Given the description of an element on the screen output the (x, y) to click on. 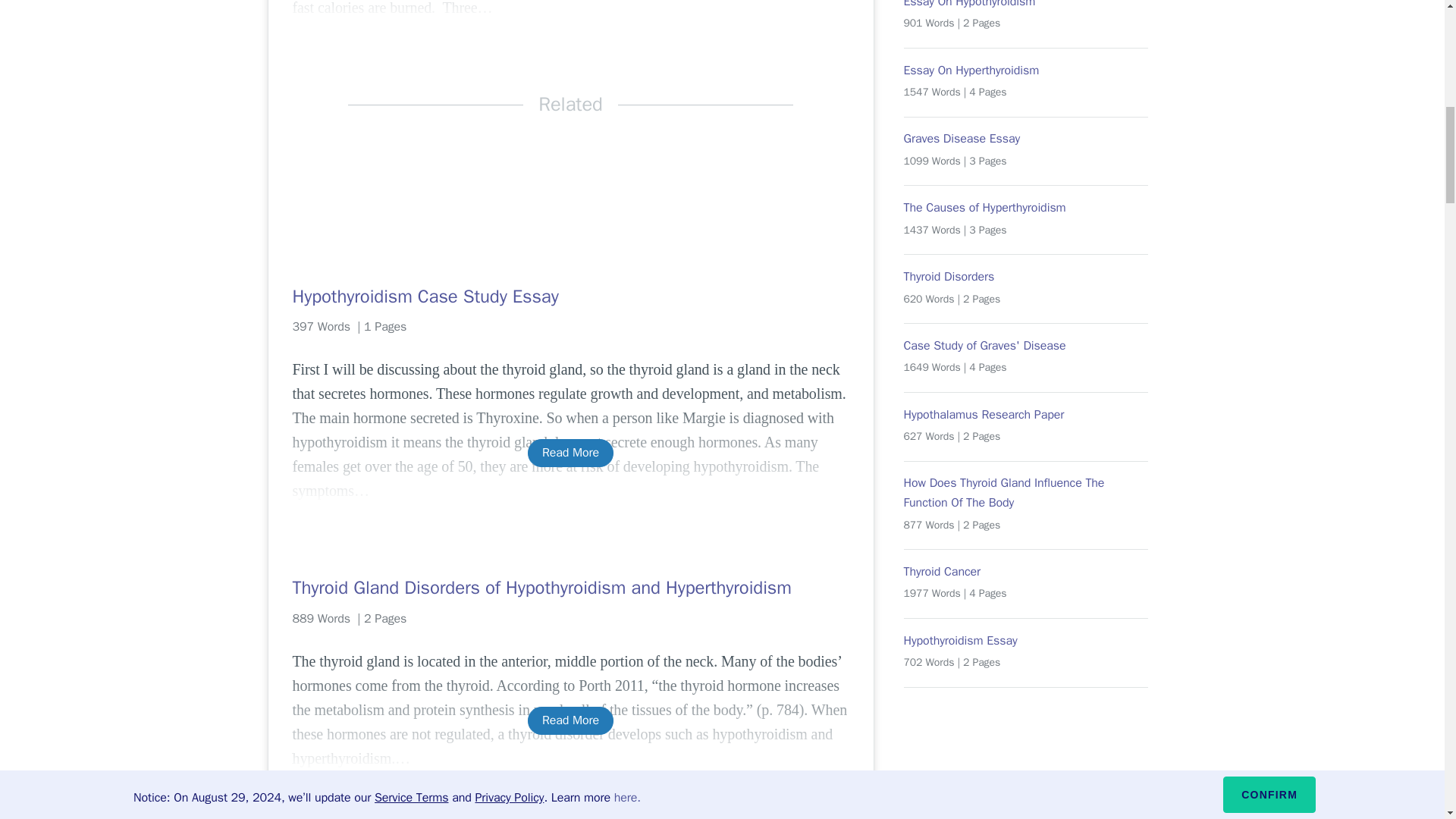
Hypothyroidism Case Study Essay (570, 296)
Read More (569, 452)
Read More (569, 720)
